Given the description of an element on the screen output the (x, y) to click on. 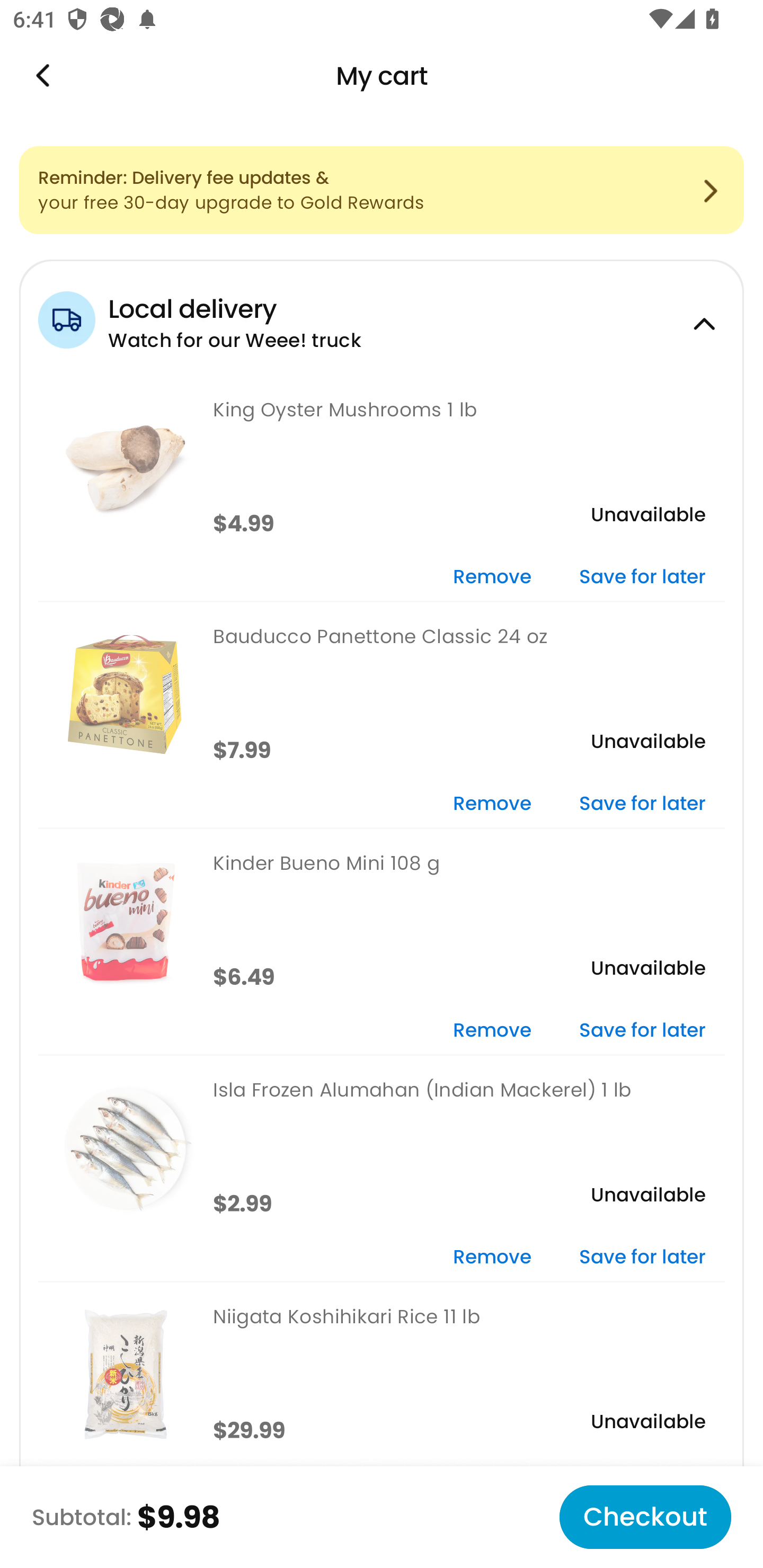
Local delivery Watch for our Weee! truck (381, 317)
Remove (491, 577)
Save for later (642, 577)
Remove (491, 804)
Save for later (642, 804)
Remove (491, 1030)
Save for later (642, 1030)
Remove (491, 1258)
Save for later (642, 1258)
Checkout (644, 1516)
